Given the description of an element on the screen output the (x, y) to click on. 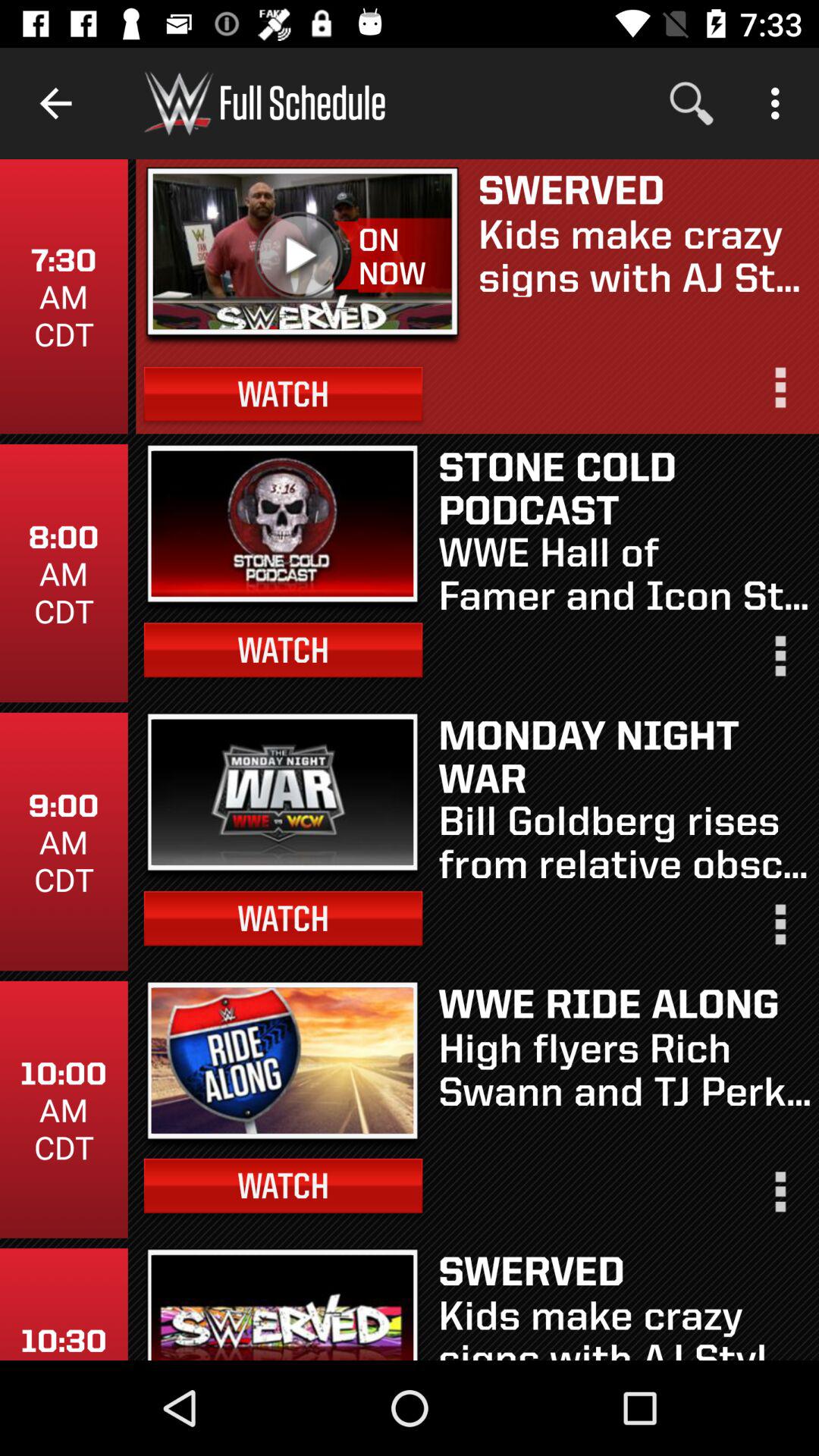
jump to high flyers rich icon (624, 1067)
